Given the description of an element on the screen output the (x, y) to click on. 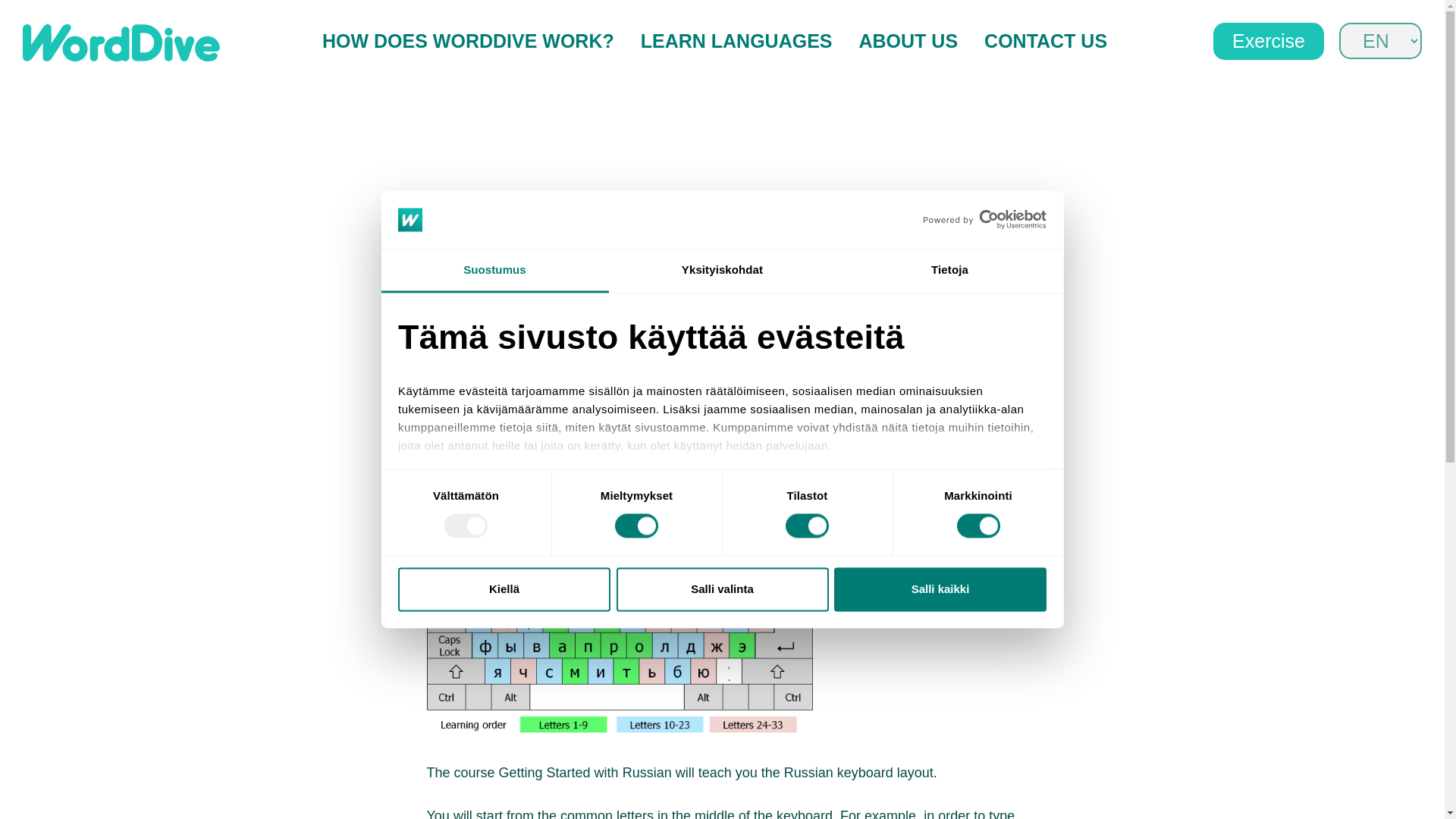
Tietoja (948, 270)
Yksityiskohdat (721, 270)
Suostumus (494, 270)
